Given the description of an element on the screen output the (x, y) to click on. 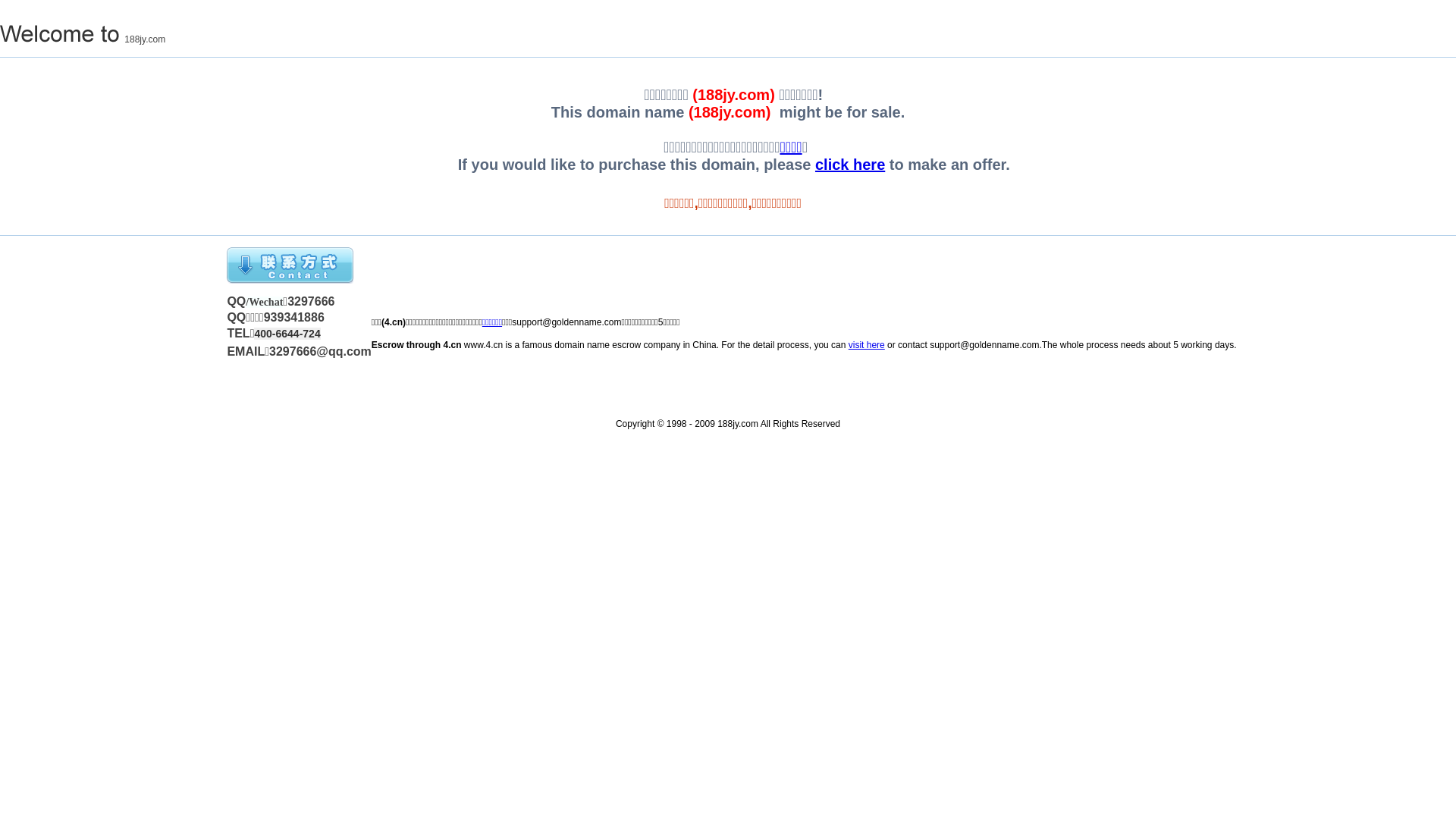
click here Element type: text (849, 164)
visit here Element type: text (866, 344)
